Given the description of an element on the screen output the (x, y) to click on. 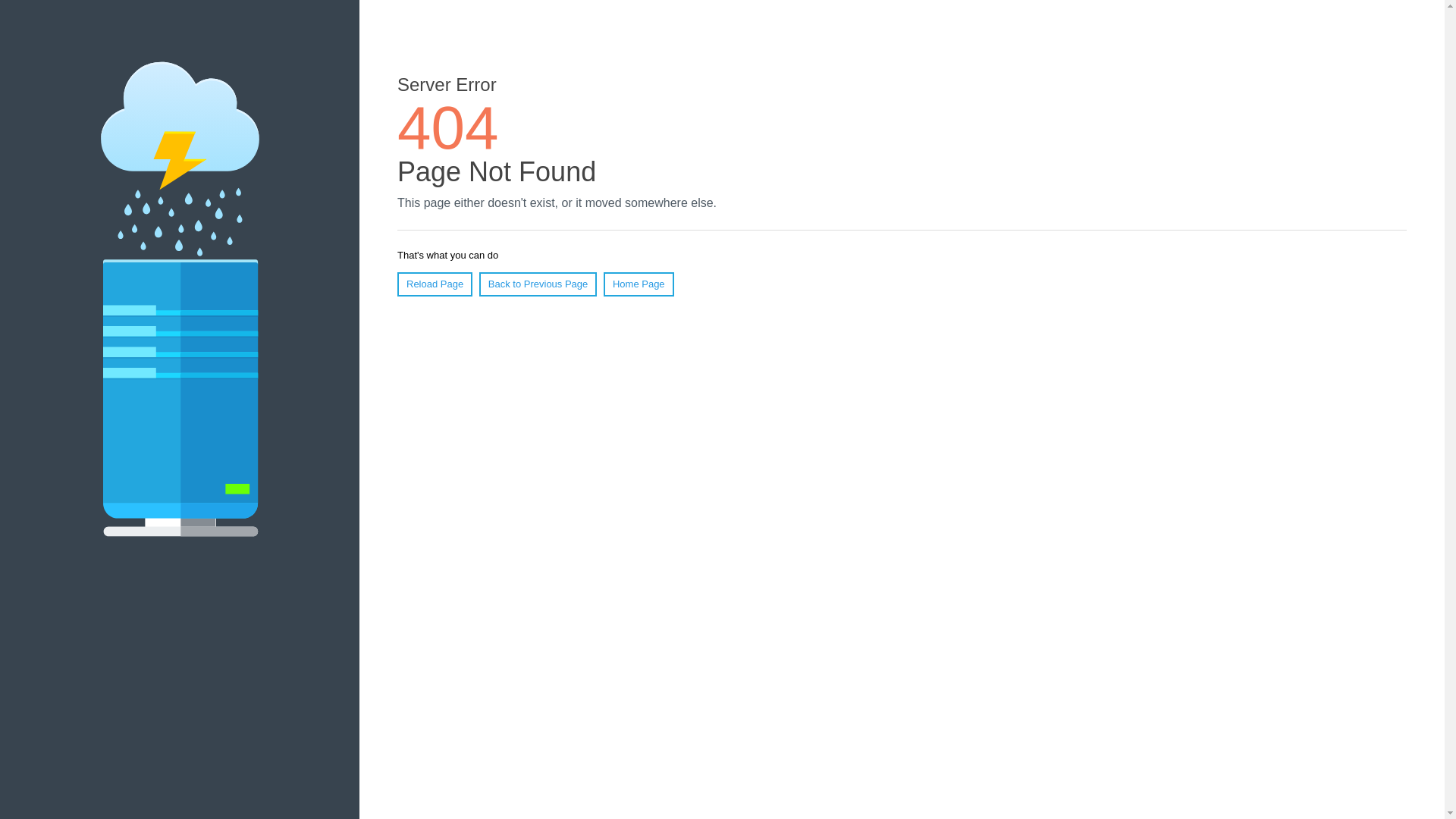
Reload Page Element type: text (434, 284)
Back to Previous Page Element type: text (538, 284)
Home Page Element type: text (638, 284)
